Given the description of an element on the screen output the (x, y) to click on. 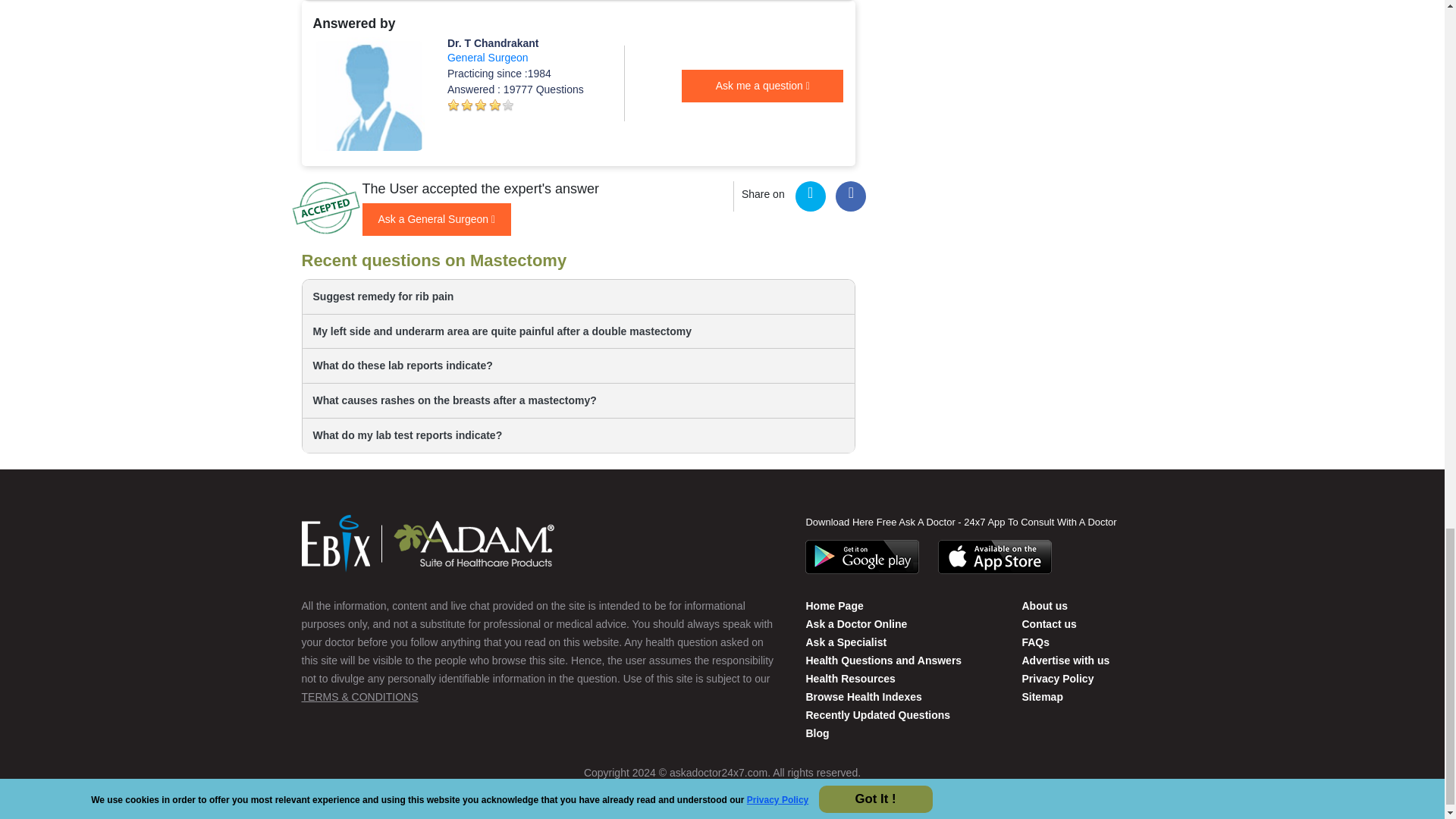
Privacy Policy (1057, 678)
Recently Updated Questions (877, 715)
Home Page (834, 605)
Contact us (1044, 605)
FAQs (1035, 642)
Health Resources (850, 678)
Health Blog (816, 733)
Contact us (1048, 623)
Browse Health Indexes (863, 696)
Health Questions and Answers (882, 660)
